Given the description of an element on the screen output the (x, y) to click on. 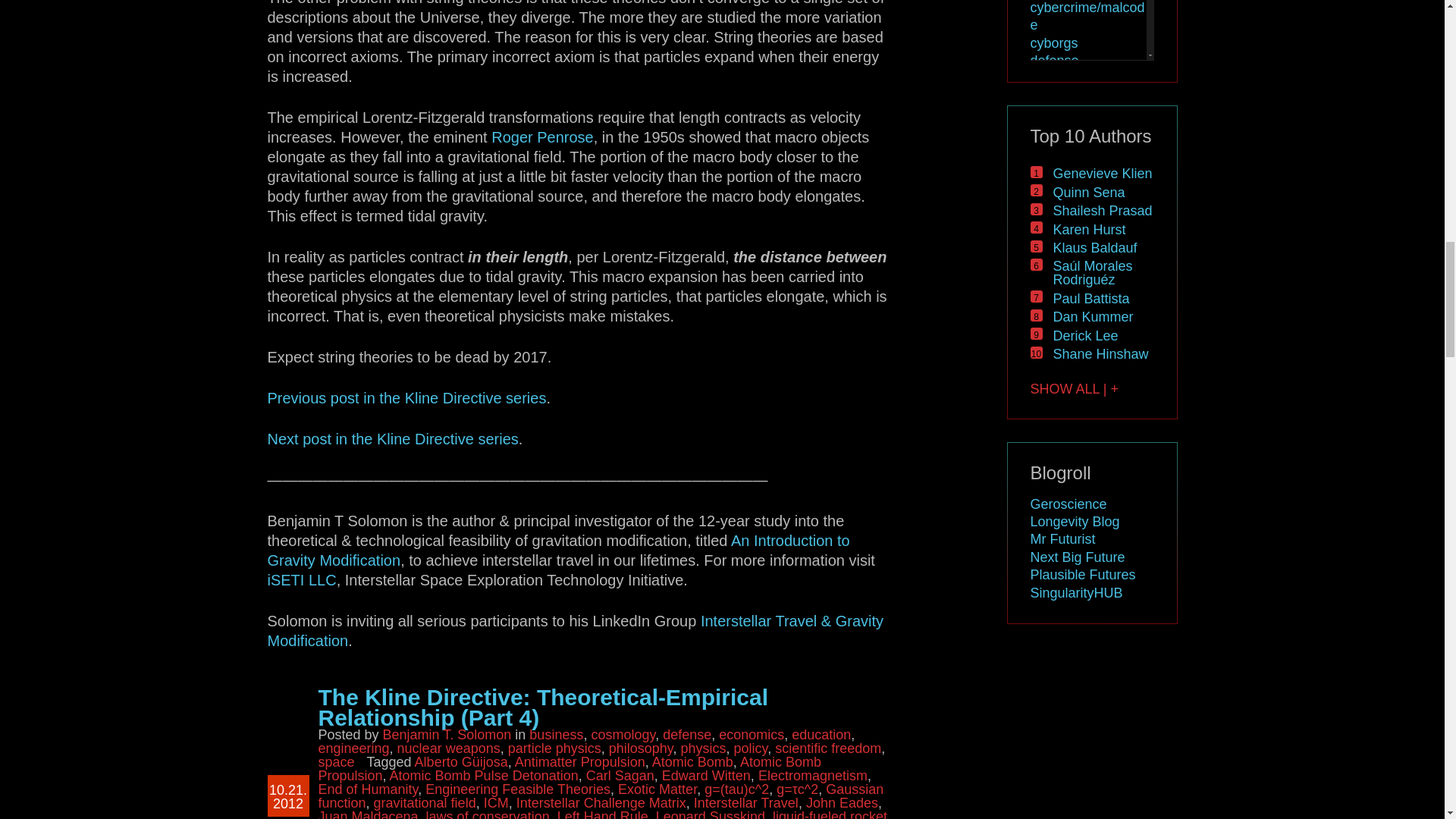
1654 posts by Dan Kummer (1092, 316)
5197 posts by Shailesh Prasad (1101, 210)
9057 posts by Quinn Sena (1088, 192)
1371 posts by Derick Lee (1085, 335)
11714 posts by Genevieve Klien (1101, 173)
2590 posts by Klaus Baldauf (1094, 247)
2091 posts by Paul Battista (1090, 298)
1200 posts by Shane Hinshaw (1100, 353)
4292 posts by Karen Hurst (1088, 229)
